Given the description of an element on the screen output the (x, y) to click on. 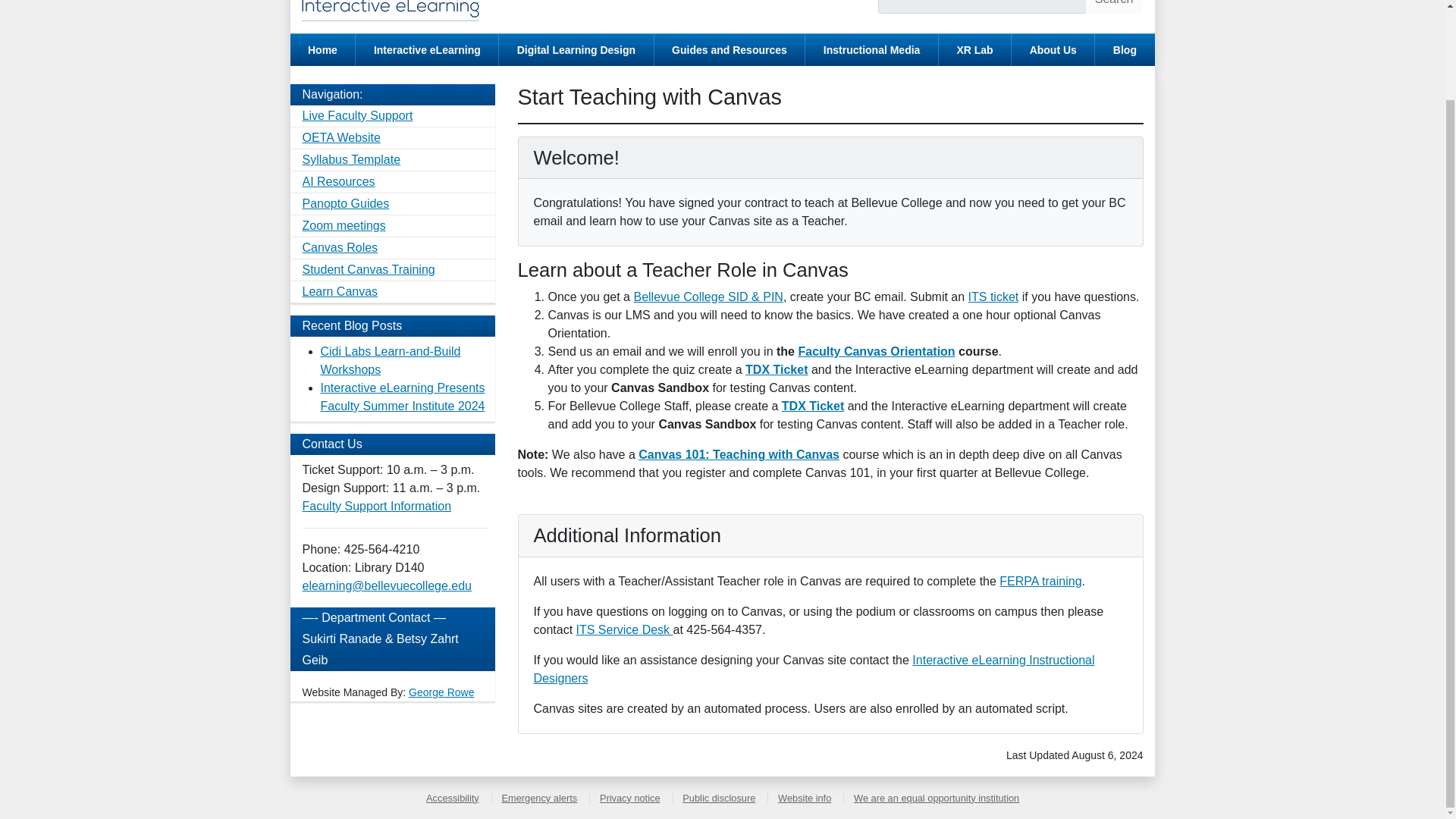
Interactive eLearning (426, 50)
Digital Learning Design (575, 50)
Guides and Resources (729, 50)
Home (322, 50)
About Us (1052, 50)
TDX Ticket (812, 405)
Blog (1124, 50)
About Us (1052, 50)
Instructional Media (871, 50)
Search (1113, 6)
